Given the description of an element on the screen output the (x, y) to click on. 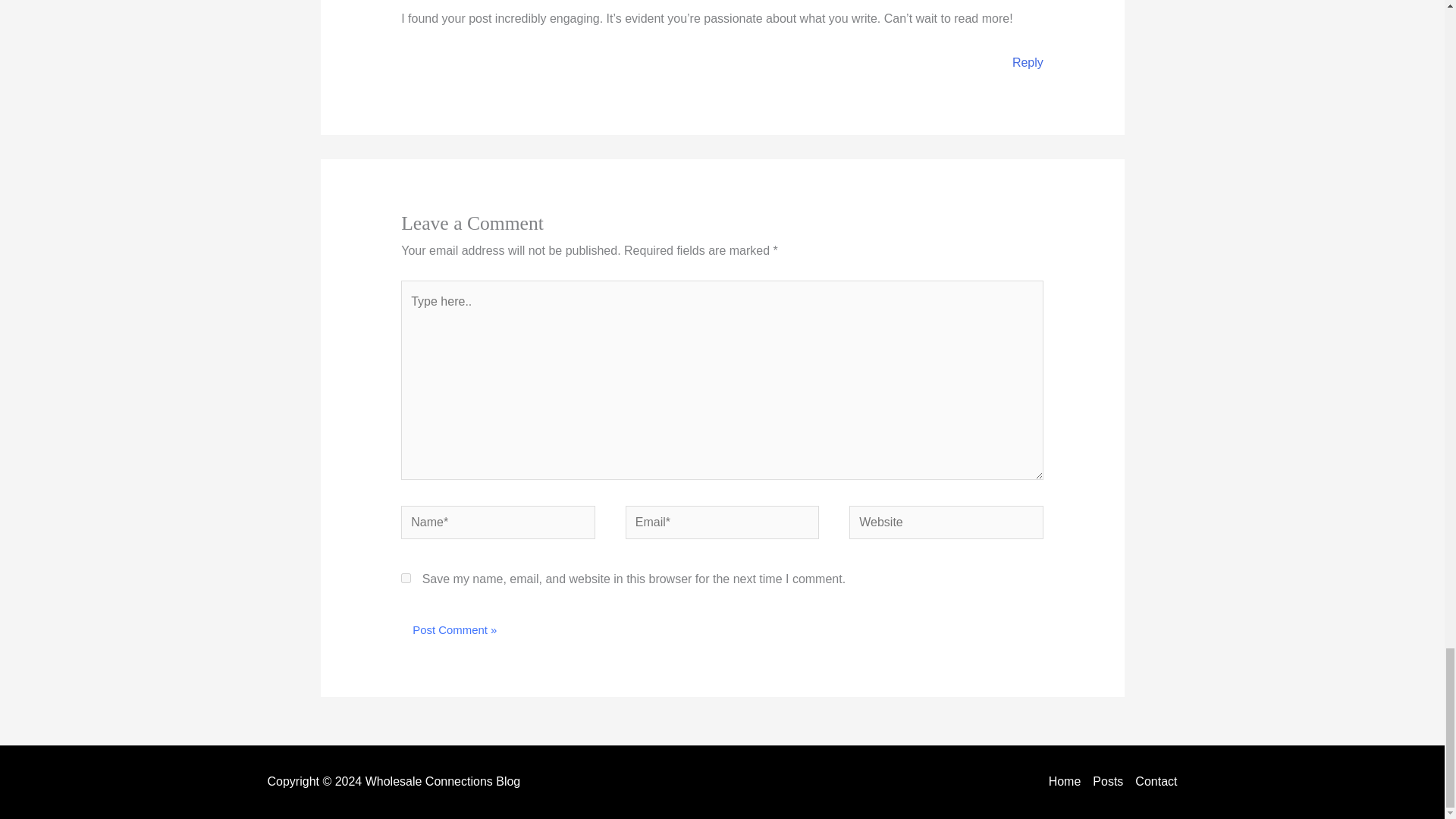
yes (405, 578)
Posts (1107, 781)
Contact (1152, 781)
Home (1067, 781)
Reply (1027, 62)
